Given the description of an element on the screen output the (x, y) to click on. 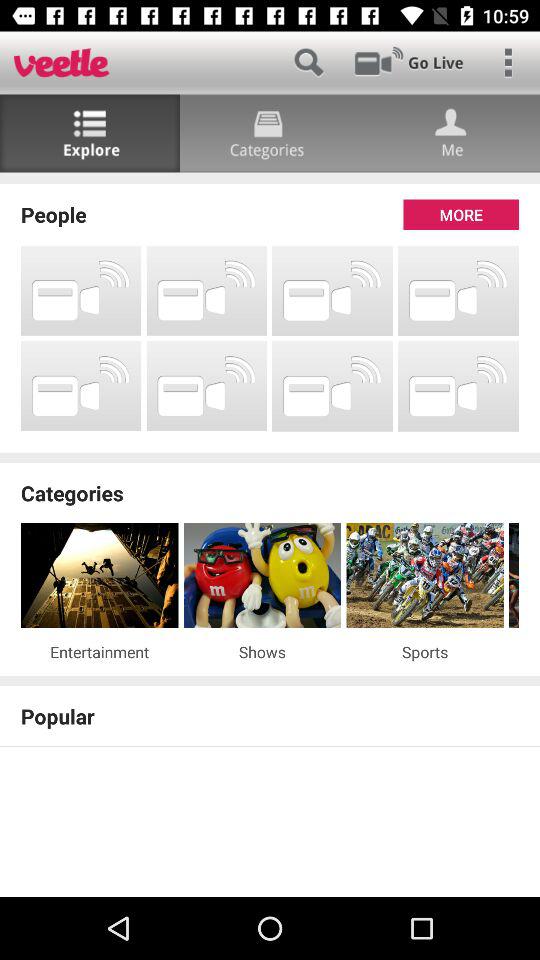
see more options (508, 62)
